Given the description of an element on the screen output the (x, y) to click on. 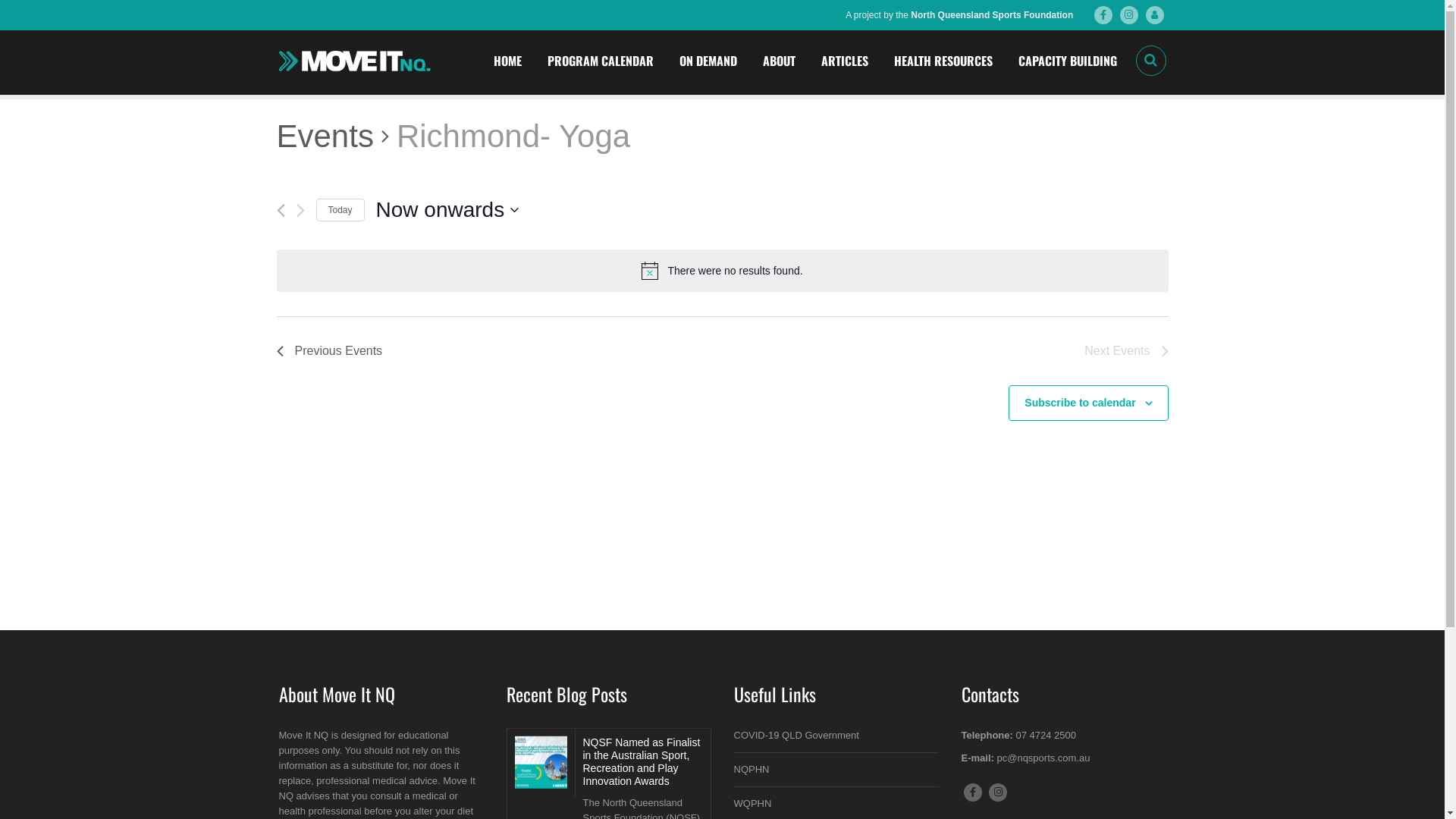
Now onwards Element type: text (447, 209)
ABOUT Element type: text (778, 60)
pc@nqsports.com.au Element type: text (1042, 757)
Next Events Element type: hover (299, 210)
Next Events Element type: text (1125, 350)
ARTICLES Element type: text (844, 60)
North Queensland Sports Foundation Element type: text (991, 14)
Previous Events Element type: text (329, 350)
NQPHN Element type: text (751, 769)
Previous Events Element type: hover (280, 210)
07 4724 2500 Element type: text (1046, 734)
HEALTH RESOURCES Element type: text (943, 60)
COVID-19 QLD Government Element type: text (796, 734)
Subscribe to calendar Element type: text (1079, 402)
Today Element type: text (339, 210)
HOME Element type: text (507, 60)
CAPACITY BUILDING Element type: text (1067, 60)
ON DEMAND Element type: text (707, 60)
PROGRAM CALENDAR Element type: text (599, 60)
Events Element type: text (324, 136)
WQPHN Element type: text (752, 803)
